Given the description of an element on the screen output the (x, y) to click on. 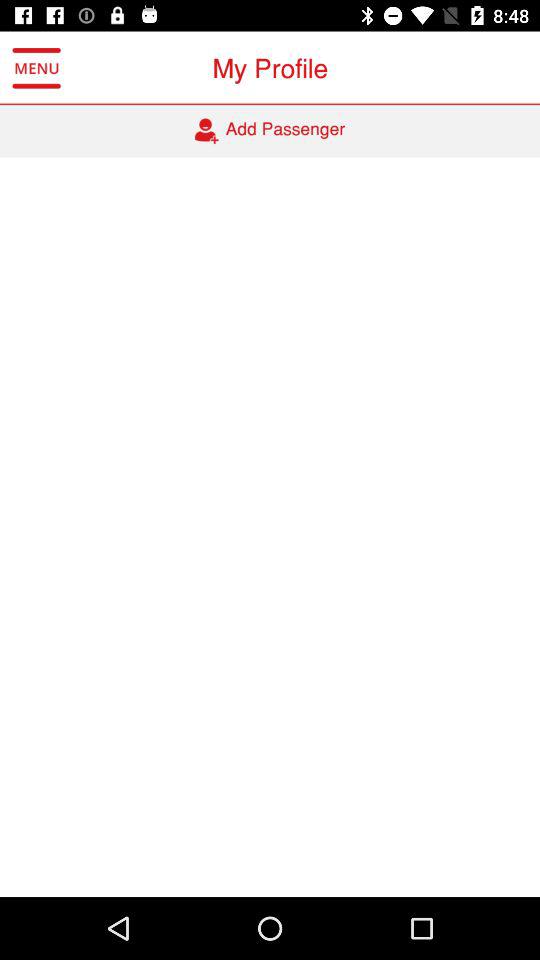
flip to the add passenger (269, 131)
